Given the description of an element on the screen output the (x, y) to click on. 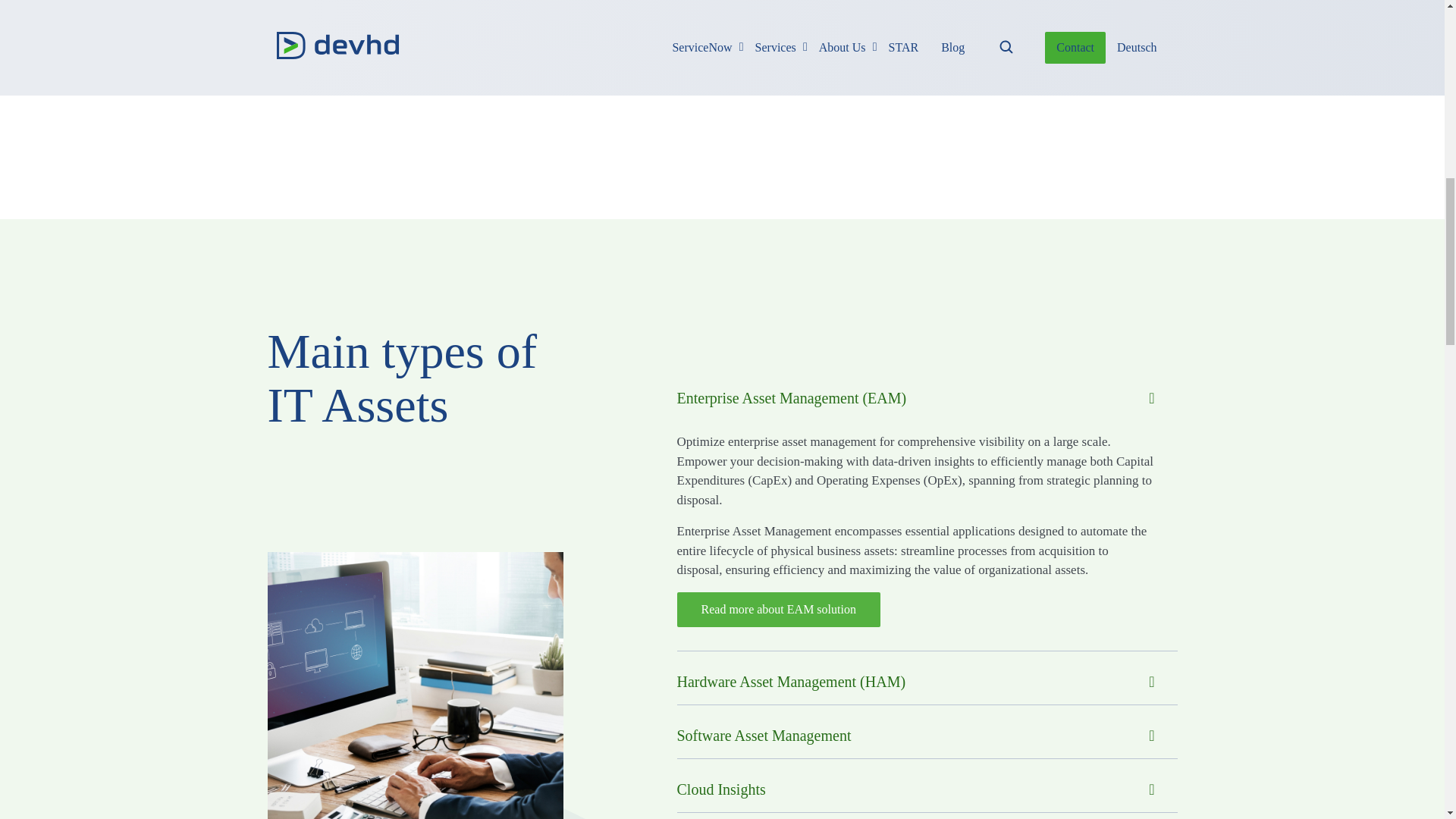
Read more about EAM solution (778, 609)
creative-monitor-tech-digitally-generated-desk 2 (955, 4)
cheerful-woman-using-laptop-coworking-space 1 (414, 685)
